Given the description of an element on the screen output the (x, y) to click on. 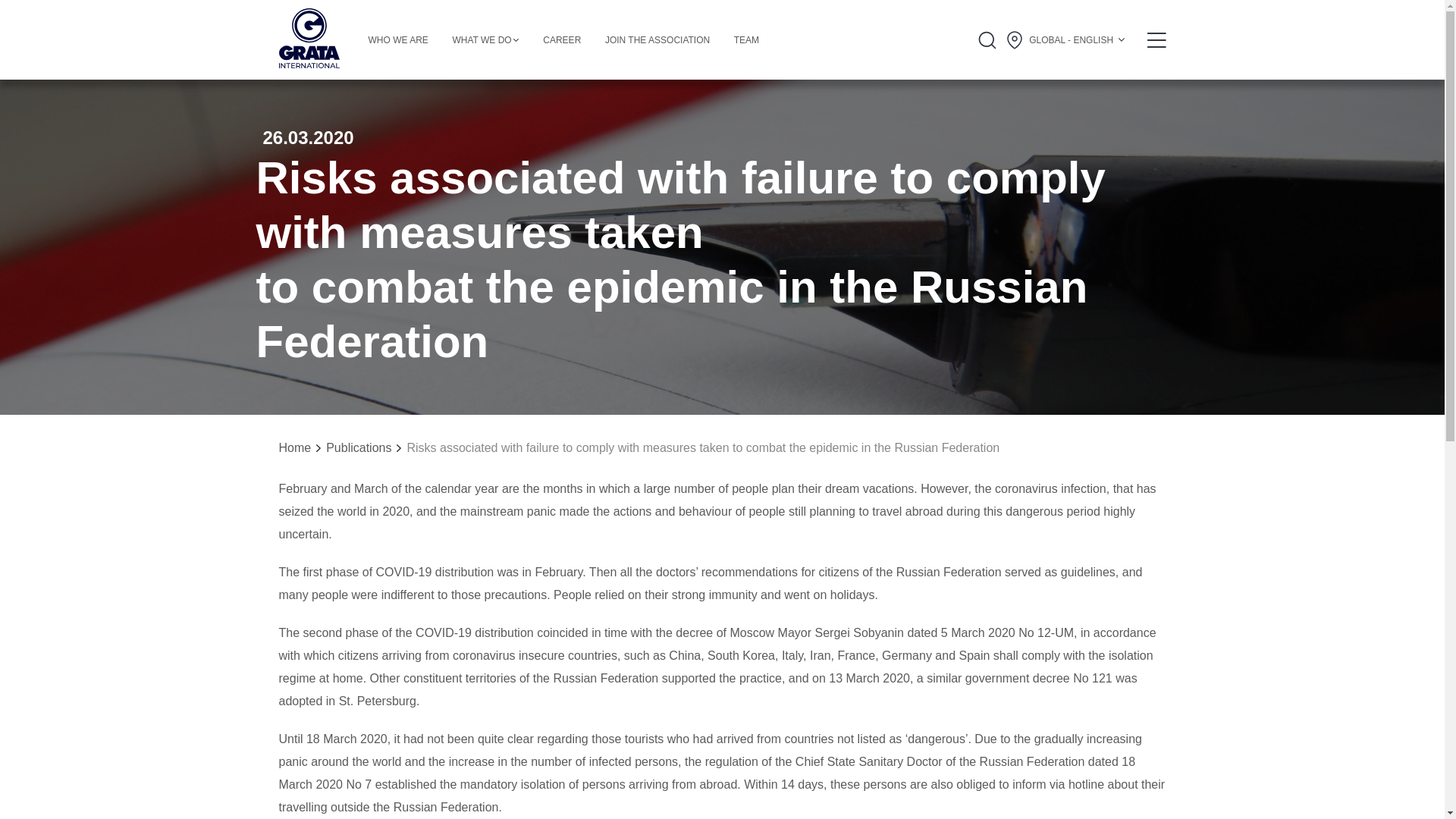
CAREER (561, 40)
WHAT WE DO (484, 40)
TEAM (745, 40)
JOIN THE ASSOCIATION (657, 40)
WHO WE ARE (398, 40)
